Given the description of an element on the screen output the (x, y) to click on. 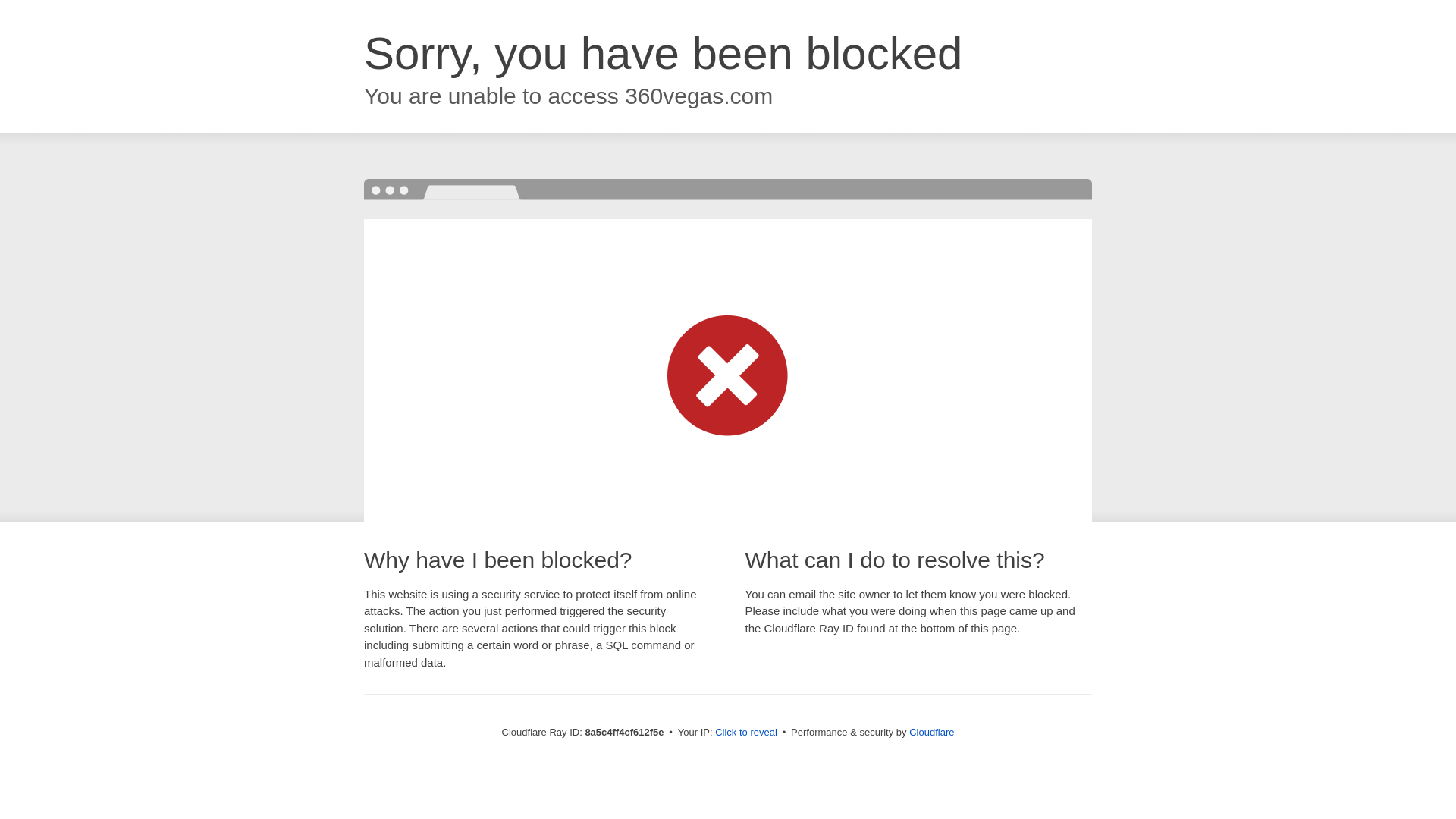
Cloudflare (930, 731)
Click to reveal (745, 732)
